Given the description of an element on the screen output the (x, y) to click on. 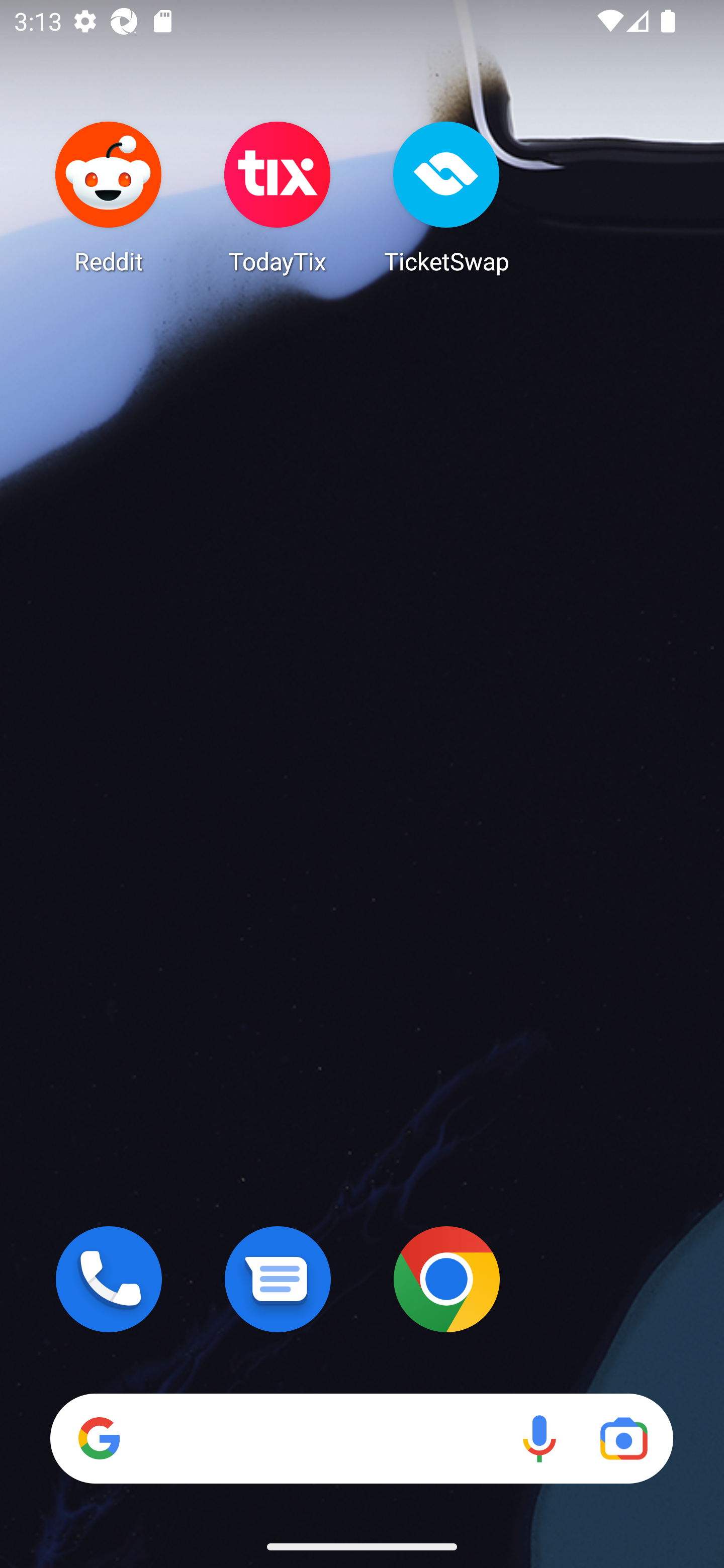
Reddit (108, 196)
TodayTix (277, 196)
TicketSwap (445, 196)
Phone (108, 1279)
Messages (277, 1279)
Chrome (446, 1279)
Voice search (539, 1438)
Google Lens (623, 1438)
